Given the description of an element on the screen output the (x, y) to click on. 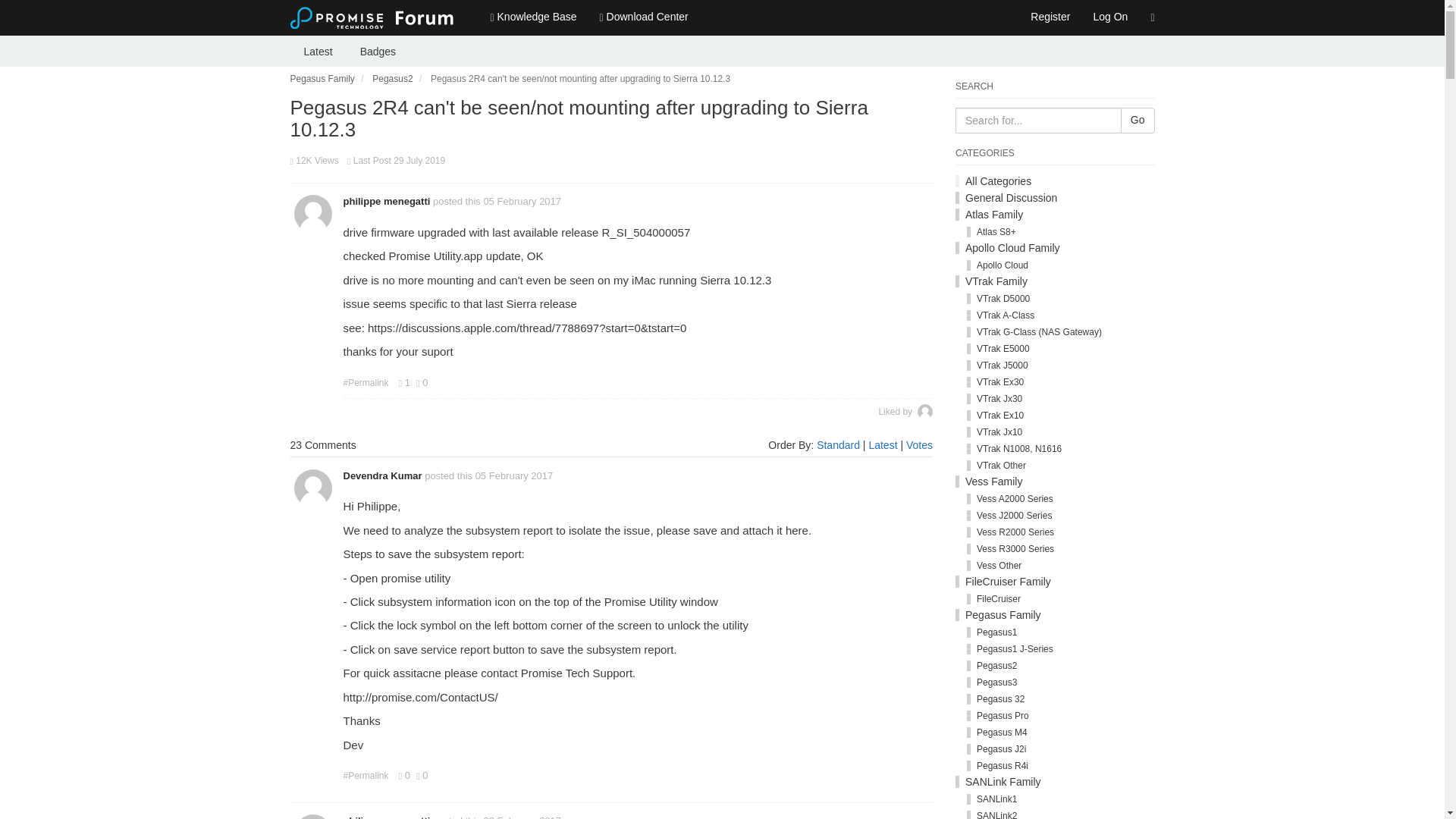
Latest (881, 444)
Register (1050, 17)
Latest (317, 51)
Devendra Kumar (382, 475)
philippe menegatti (385, 816)
Standard (838, 444)
Download Center (644, 17)
Badges (377, 51)
B Hud (925, 411)
philippe menegatti (385, 201)
Pegasus Family (321, 78)
Votes (919, 444)
Pegasus2 (392, 78)
Knowledge Base (533, 17)
Log On (1109, 17)
